Given the description of an element on the screen output the (x, y) to click on. 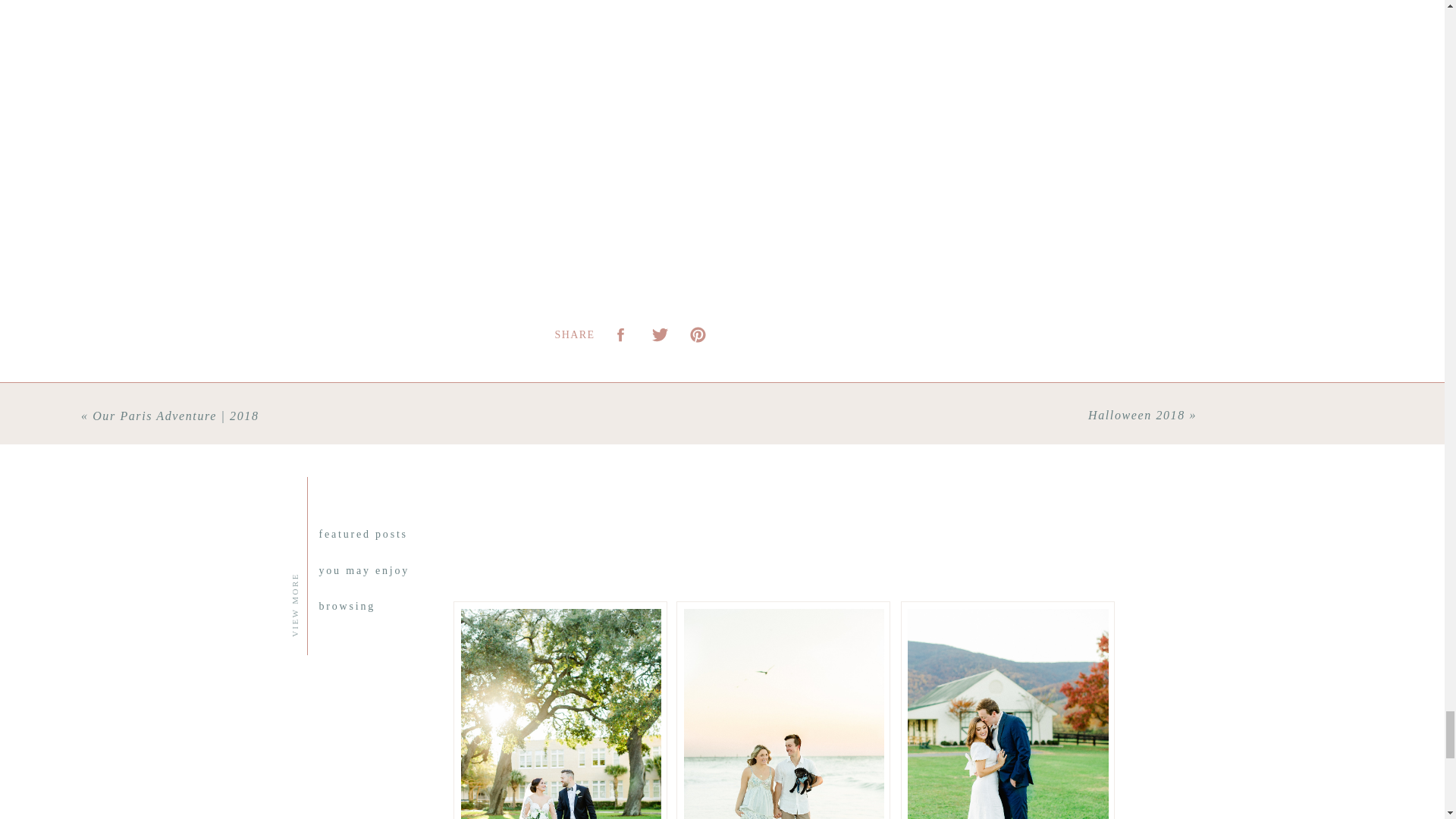
SHARE (574, 335)
VIEW MORE (360, 499)
Halloween 2018 (1136, 414)
